Given the description of an element on the screen output the (x, y) to click on. 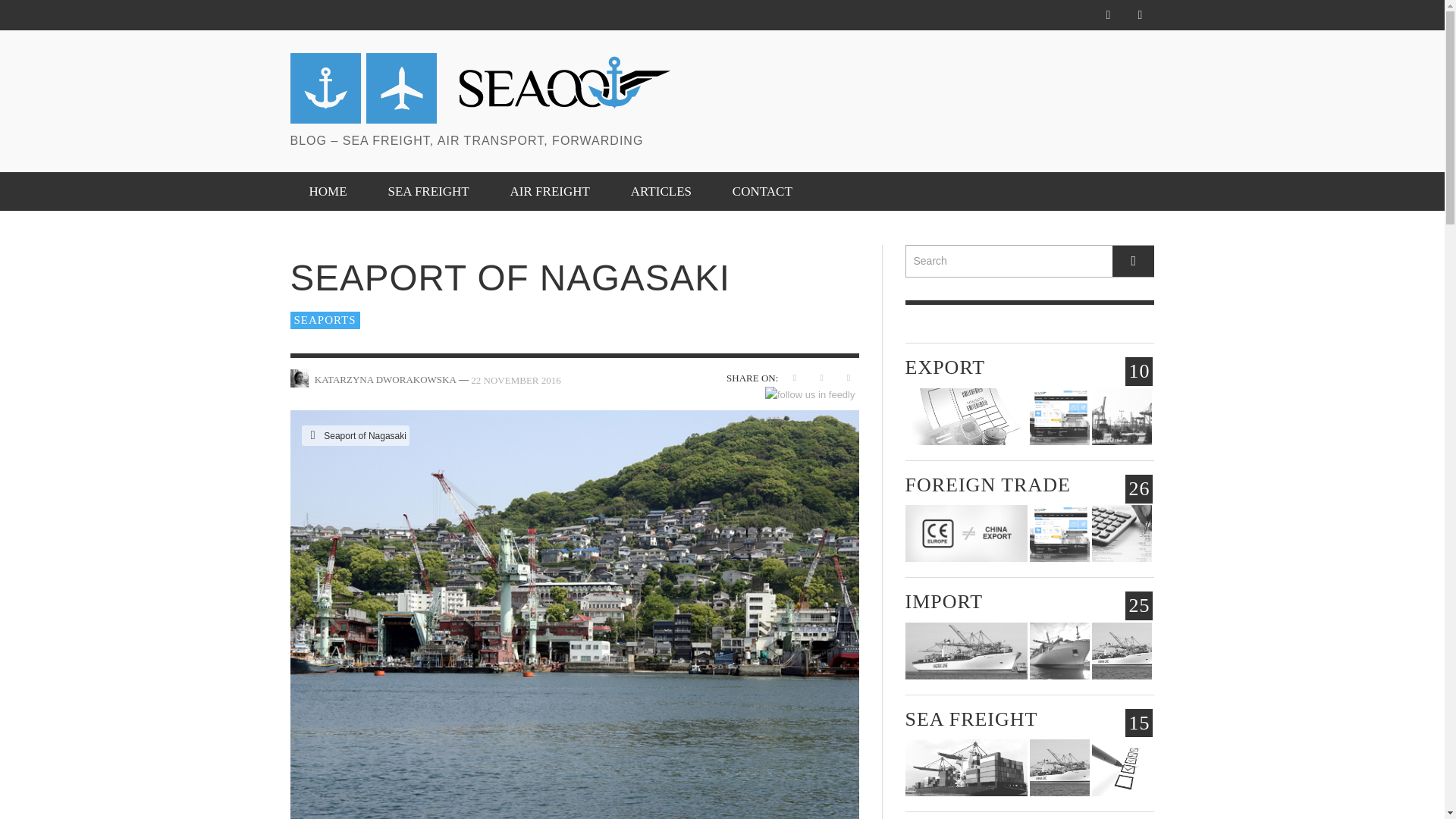
Search (1029, 260)
HOME (327, 190)
SEA FREIGHT (427, 190)
Facebook (1107, 15)
ARTICLES (660, 190)
Permalink to Seaport of Nagasaki (515, 379)
View all posts in Seaports (324, 320)
View all posts by Katarzyna Dworakowska (385, 378)
SEAPORTS (324, 320)
